Given the description of an element on the screen output the (x, y) to click on. 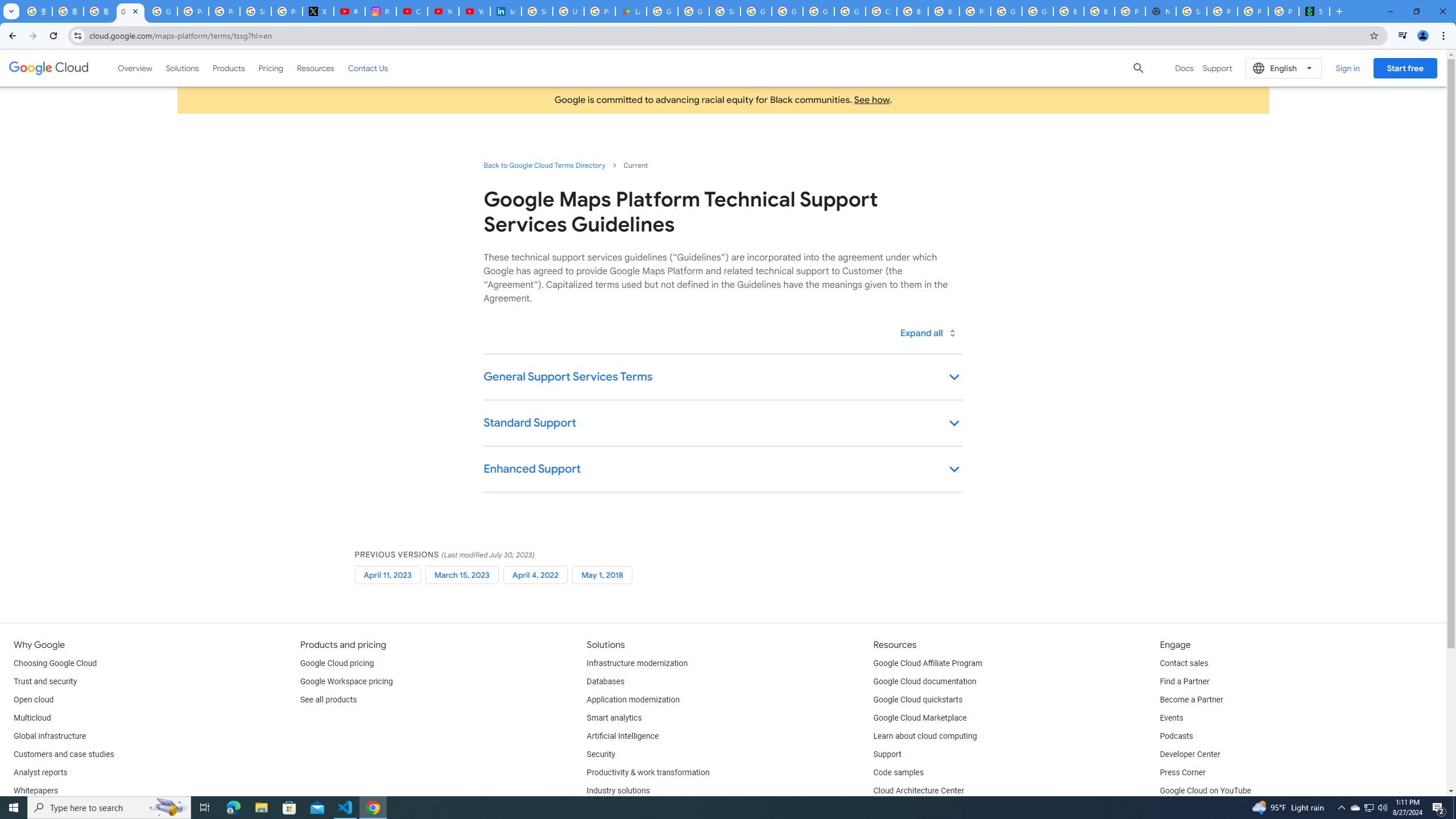
Artificial Intelligence (622, 736)
Google Cloud pricing (336, 663)
Browse Chrome as a guest - Computer - Google Chrome Help (1068, 11)
March 15, 2023 (462, 574)
Become a Partner (1190, 700)
Last Shelter: Survival - Apps on Google Play (631, 11)
See how (871, 99)
Toggle all (927, 332)
Global infrastructure (49, 736)
See all products (327, 700)
